Given the description of an element on the screen output the (x, y) to click on. 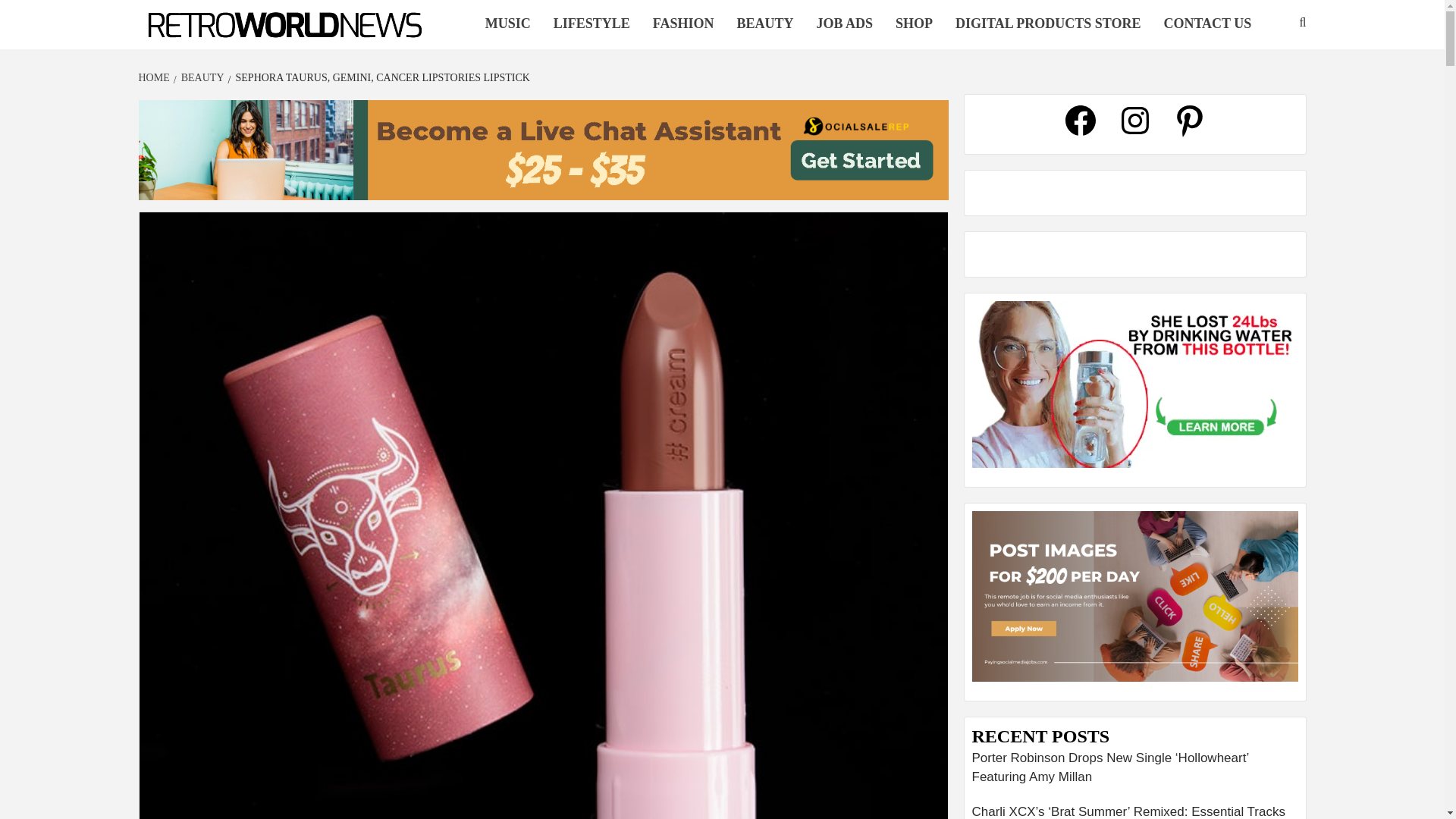
HOME (155, 77)
FASHION (683, 23)
DIGITAL PRODUCTS STORE (1047, 23)
CONTACT US (1206, 23)
SHOP (913, 23)
MUSIC (507, 23)
RETROWORLDNEWS (223, 48)
JOB ADS (844, 23)
BEAUTY (200, 77)
BEAUTY (765, 23)
